Given the description of an element on the screen output the (x, y) to click on. 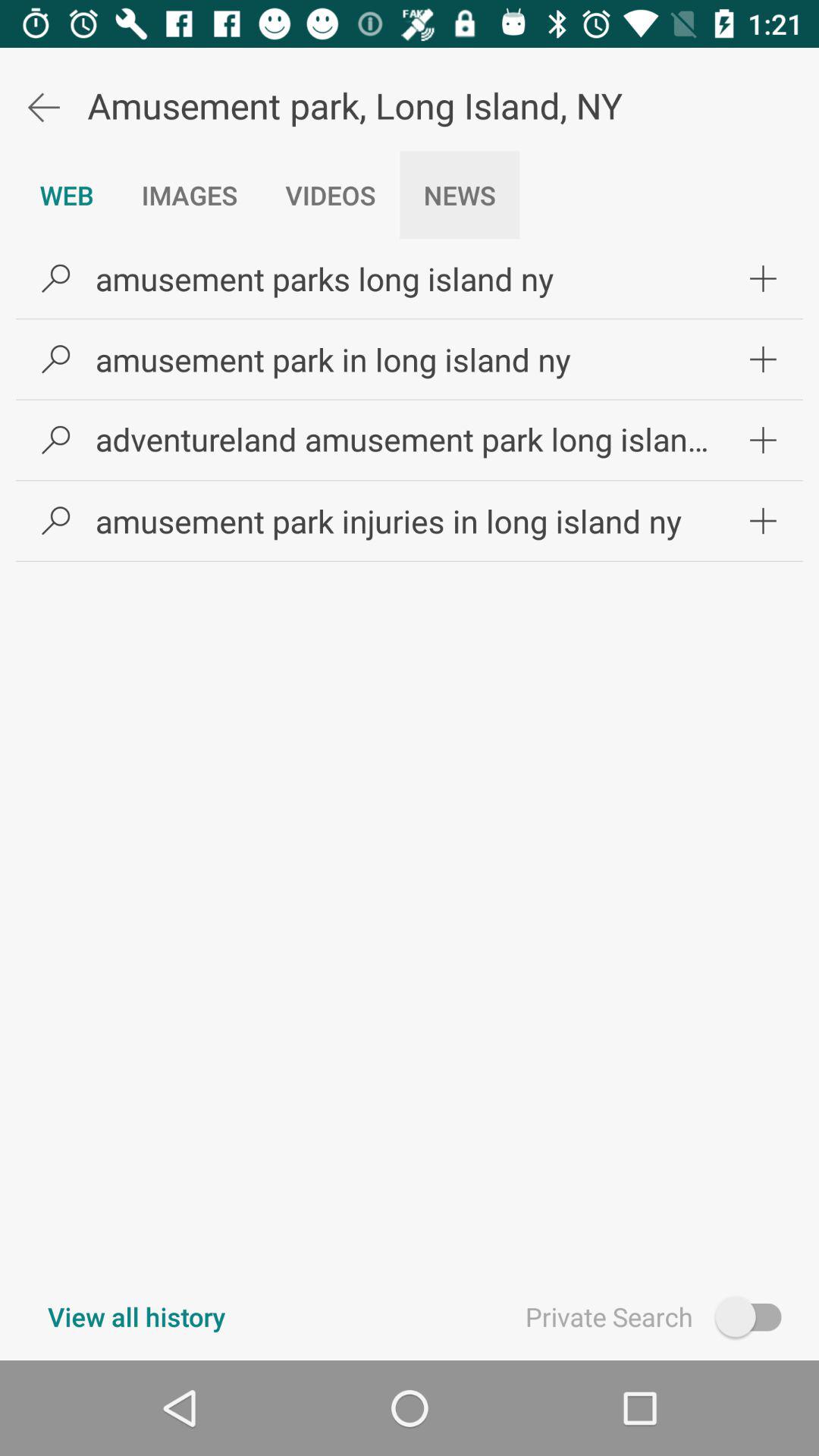
launch item to the right of the images item (330, 194)
